Given the description of an element on the screen output the (x, y) to click on. 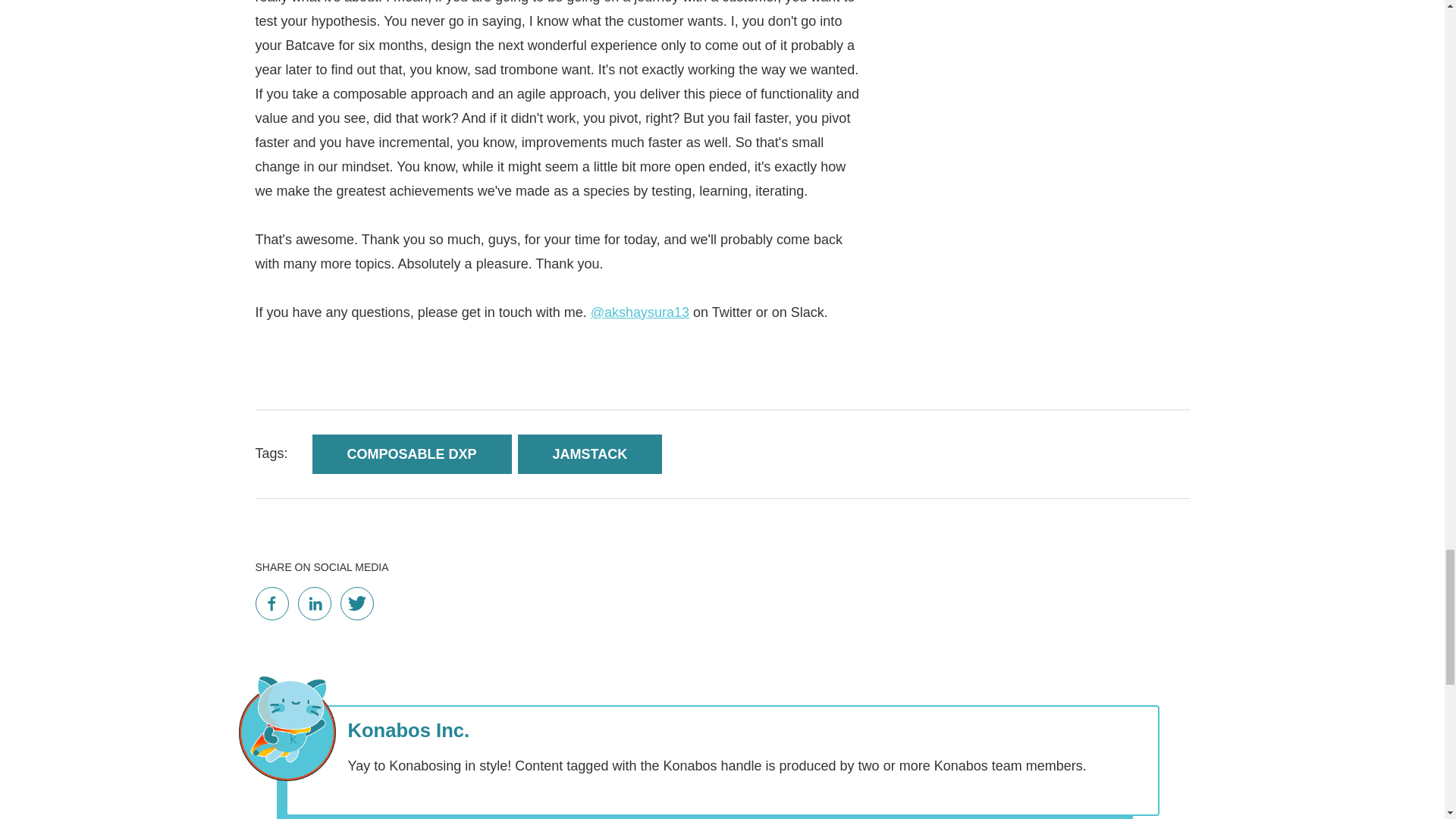
JAMSTACK (590, 454)
COMPOSABLE DXP (412, 454)
